Given the description of an element on the screen output the (x, y) to click on. 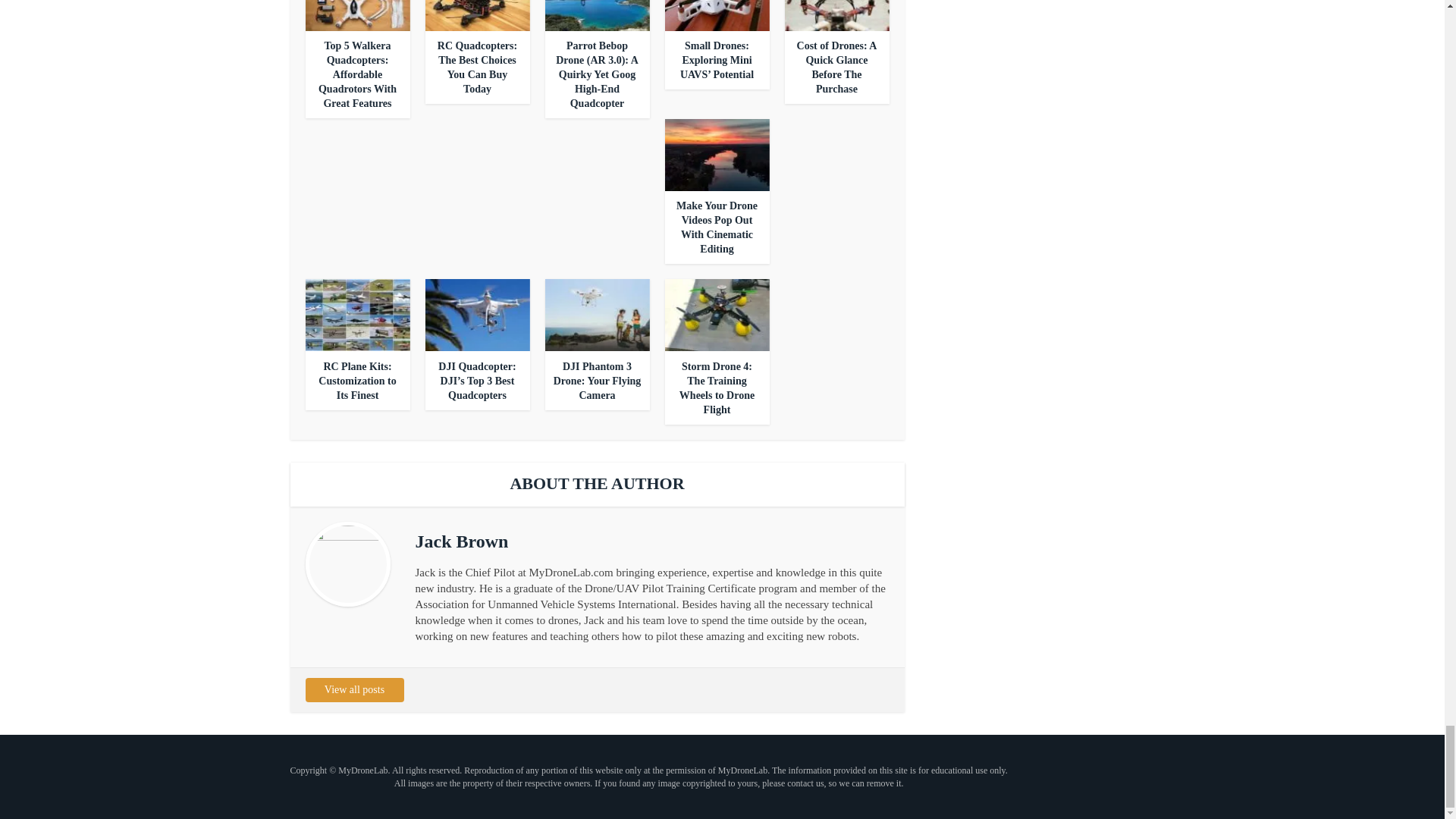
RC Plane Kits: Customization to Its Finest (357, 381)
RC Plane Kits: Customization to Its Finest (356, 314)
Cost of Drones: A Quick Glance Before The Purchase (836, 67)
Make Your Drone Videos Pop Out With Cinematic Editing (717, 226)
Make Your Drone Videos Pop Out With Cinematic Editing (715, 153)
RC Plane Kits: Customization to Its Finest (357, 381)
RC Quadcopters: The Best Choices You Can Buy Today (477, 67)
RC Quadcopters: The Best Choices You Can Buy Today (477, 67)
Make Your Drone Videos Pop Out With Cinematic Editing (717, 226)
